Given the description of an element on the screen output the (x, y) to click on. 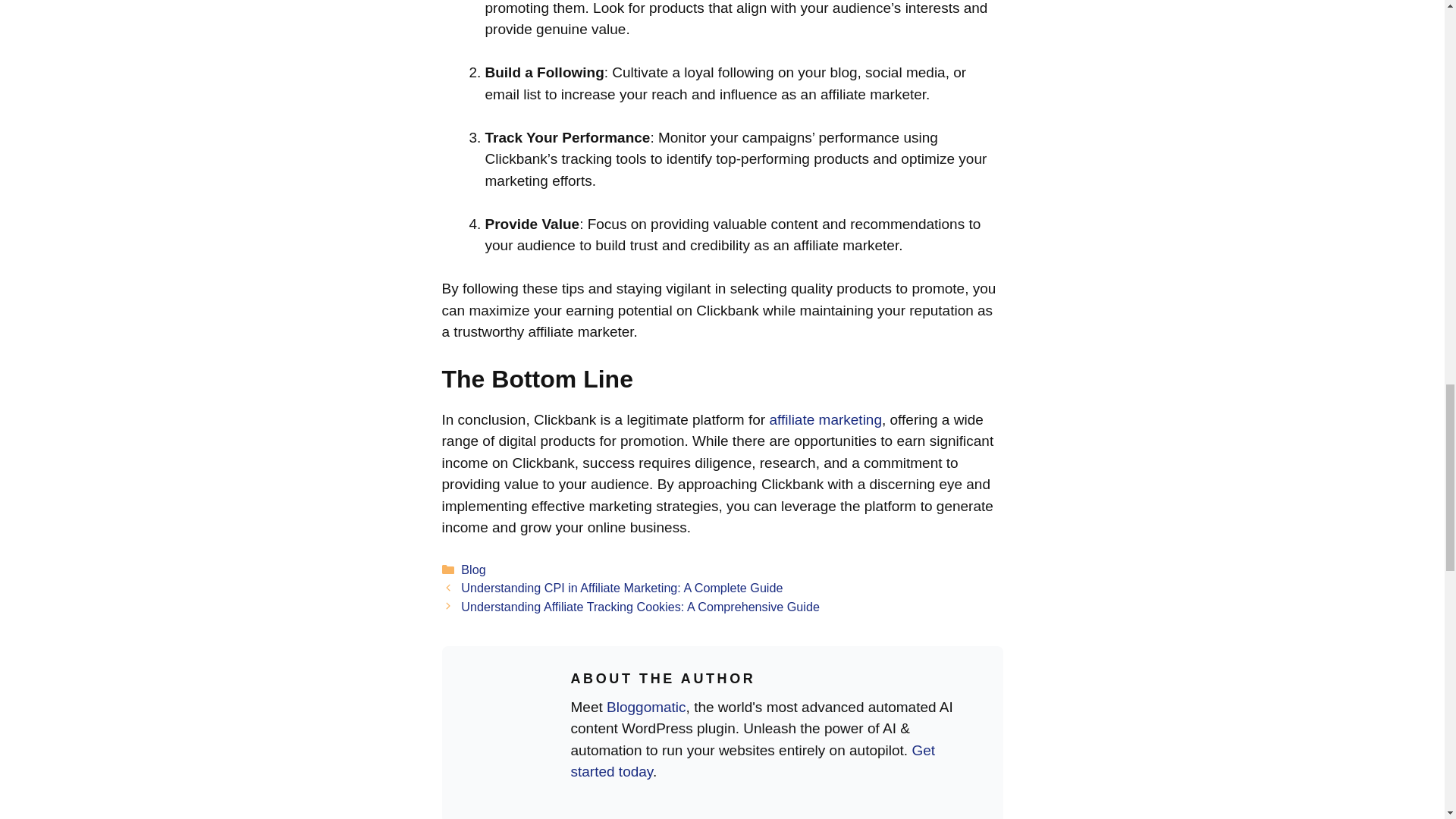
Blog (472, 569)
Understanding CPI in Affiliate Marketing: A Complete Guide (622, 587)
affiliate marketing (825, 419)
Get started today (752, 761)
Bloggomatic (646, 706)
